Given the description of an element on the screen output the (x, y) to click on. 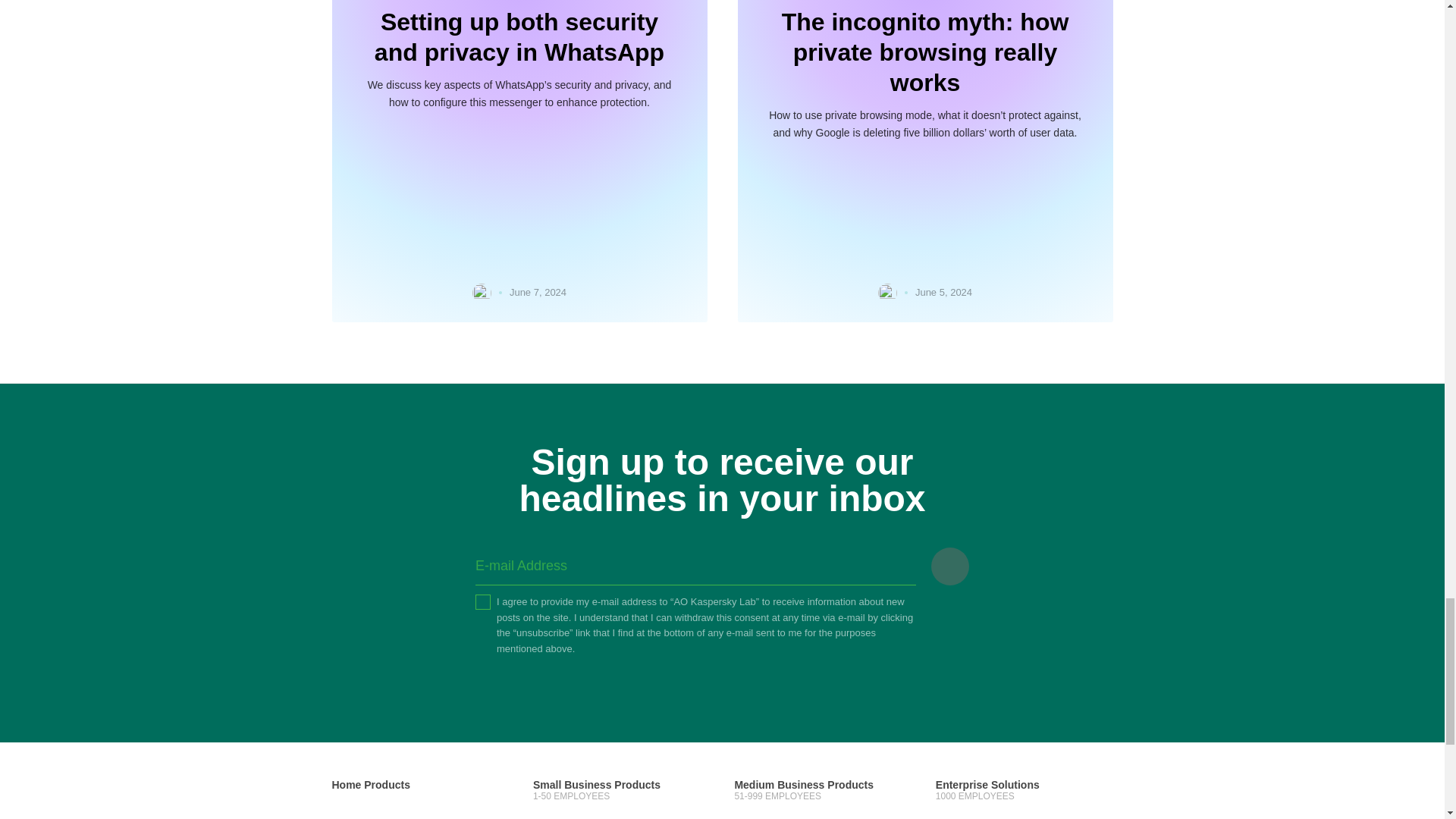
Sign me Up (950, 566)
